Given the description of an element on the screen output the (x, y) to click on. 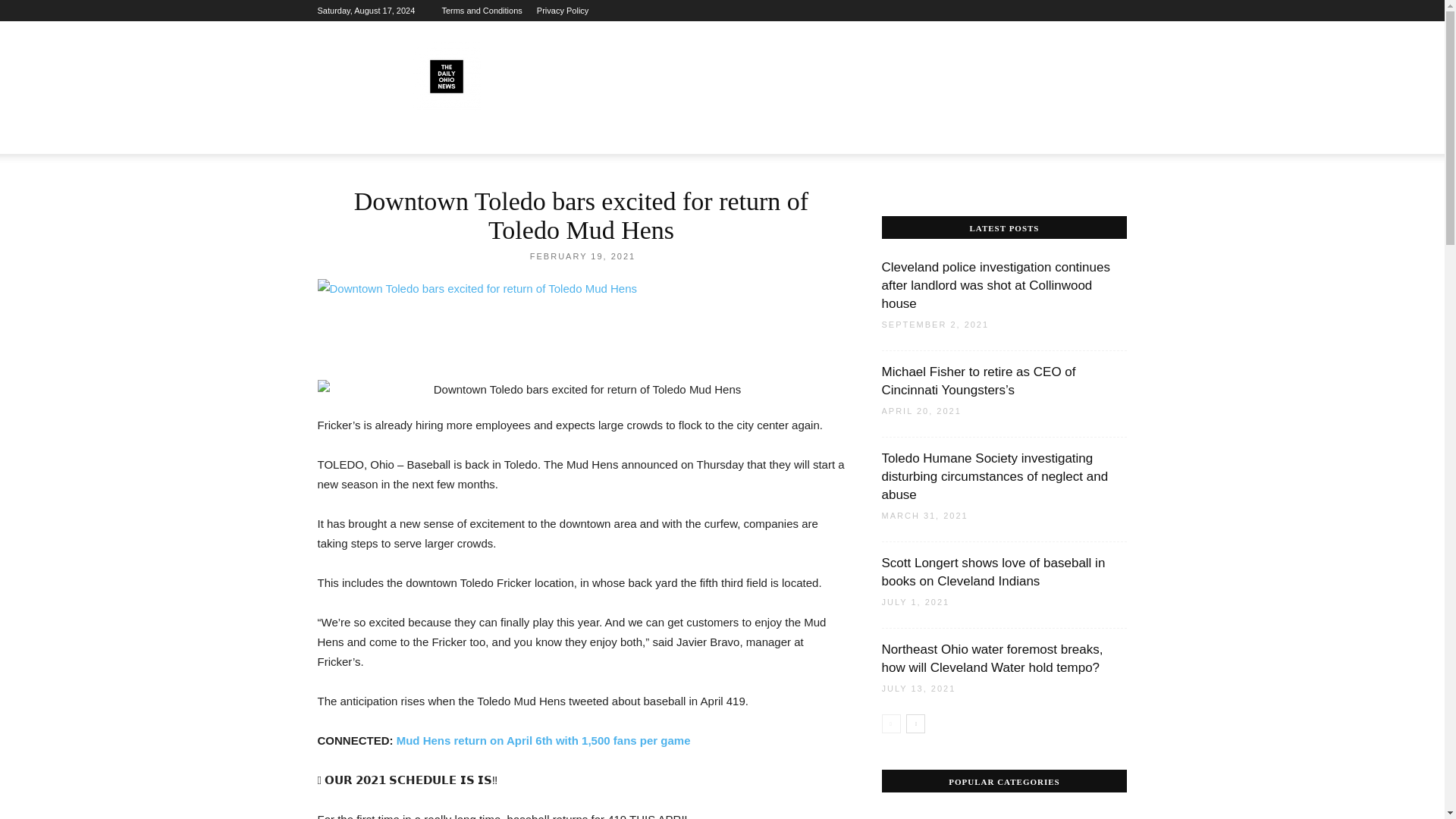
Mud Hens return on April 6th with 1,500 fans per game (543, 739)
Downtown Toledo bars excited for return of Toledo Mud Hens (580, 389)
HOME (341, 135)
YOUNGSTOWN (686, 135)
Terms and Conditions (481, 10)
TOLEDO (614, 135)
Downtown Toledo bars excited for return of Toledo Mud Hens (580, 288)
CINCINNATI (402, 135)
Privacy Policy (562, 10)
COLUMBUS (550, 135)
